Given the description of an element on the screen output the (x, y) to click on. 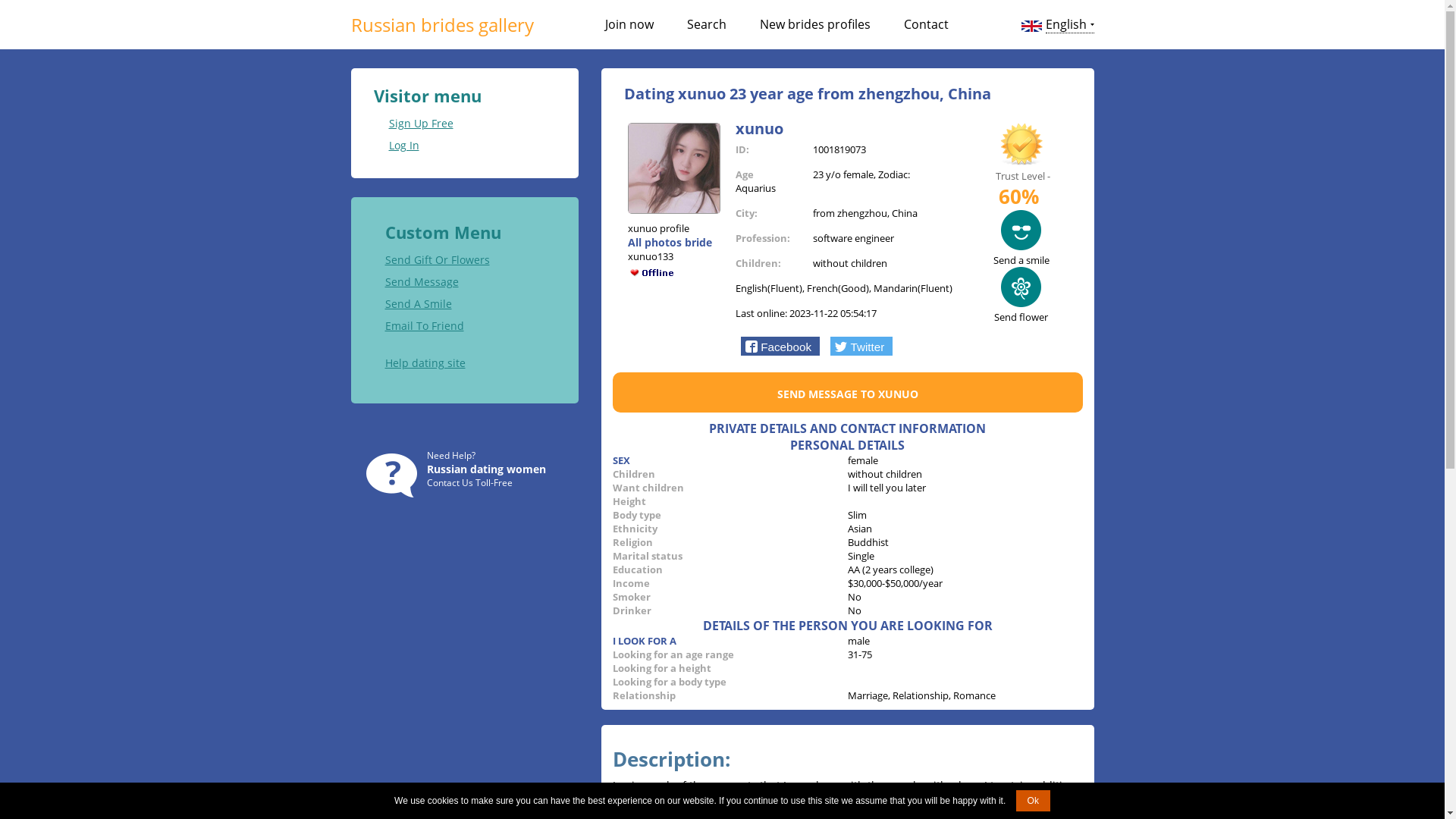
Help dating site Element type: text (425, 362)
All photos bride Element type: text (669, 242)
Join now Element type: text (629, 23)
SEND MESSAGE TO XUNUO Element type: text (846, 393)
Log In Element type: text (395, 145)
Ok Element type: text (1033, 800)
English Element type: text (1068, 24)
Contact Element type: text (925, 23)
Send Gift Or Flowers Element type: text (437, 259)
  Element type: text (992, 175)
Sign Up Free Element type: text (412, 123)
New brides profiles Element type: text (814, 23)
Send A Smile Element type: text (418, 303)
Search Element type: text (706, 23)
Email To Friend Element type: text (424, 325)
Russian brides gallery Element type: text (441, 24)
Send Message Element type: text (421, 281)
Russian dating women Element type: text (485, 468)
